Given the description of an element on the screen output the (x, y) to click on. 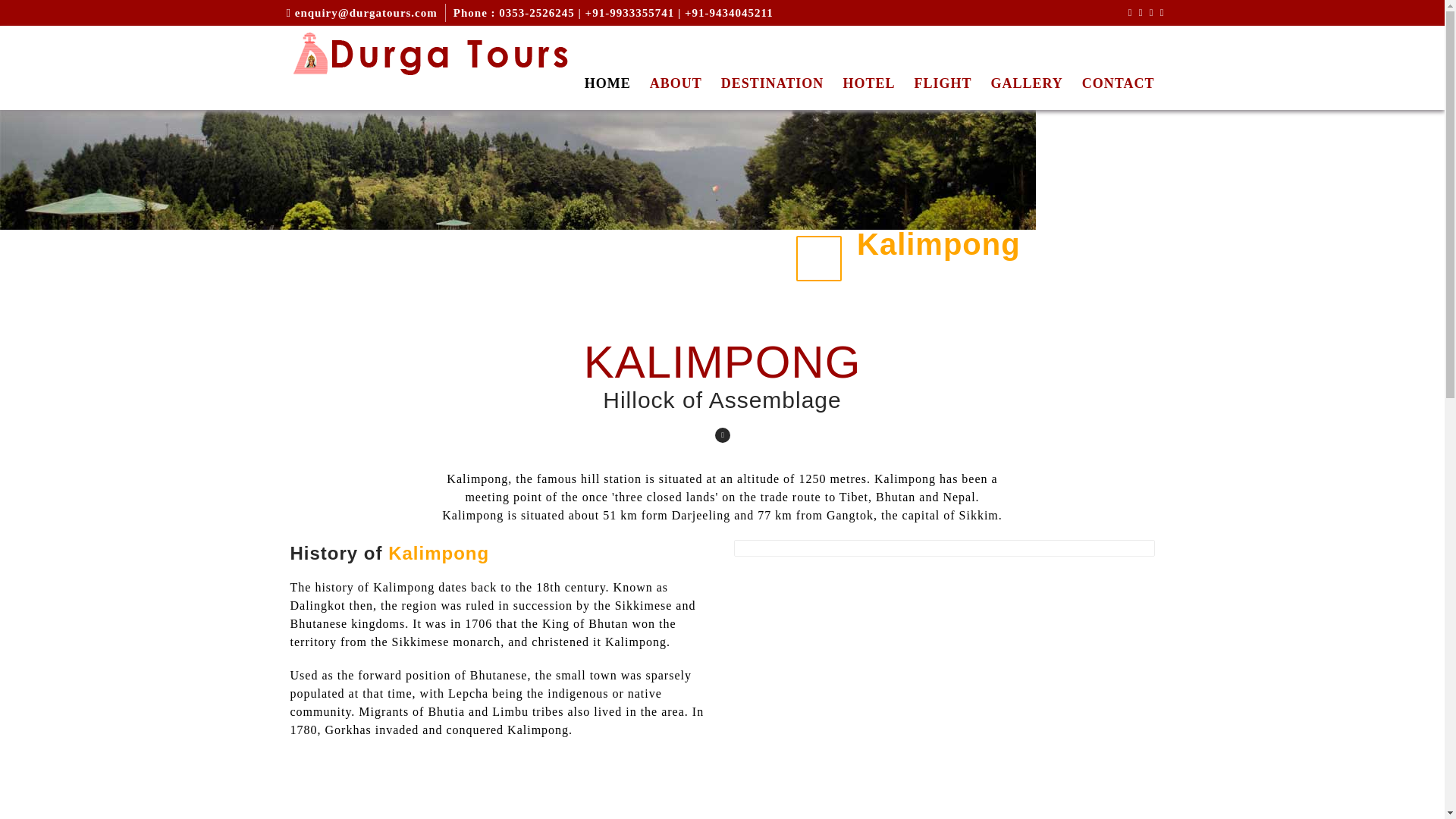
0353-2526245 (537, 12)
HOME (598, 79)
DESTINATION (762, 79)
ABOUT (665, 79)
